Given the description of an element on the screen output the (x, y) to click on. 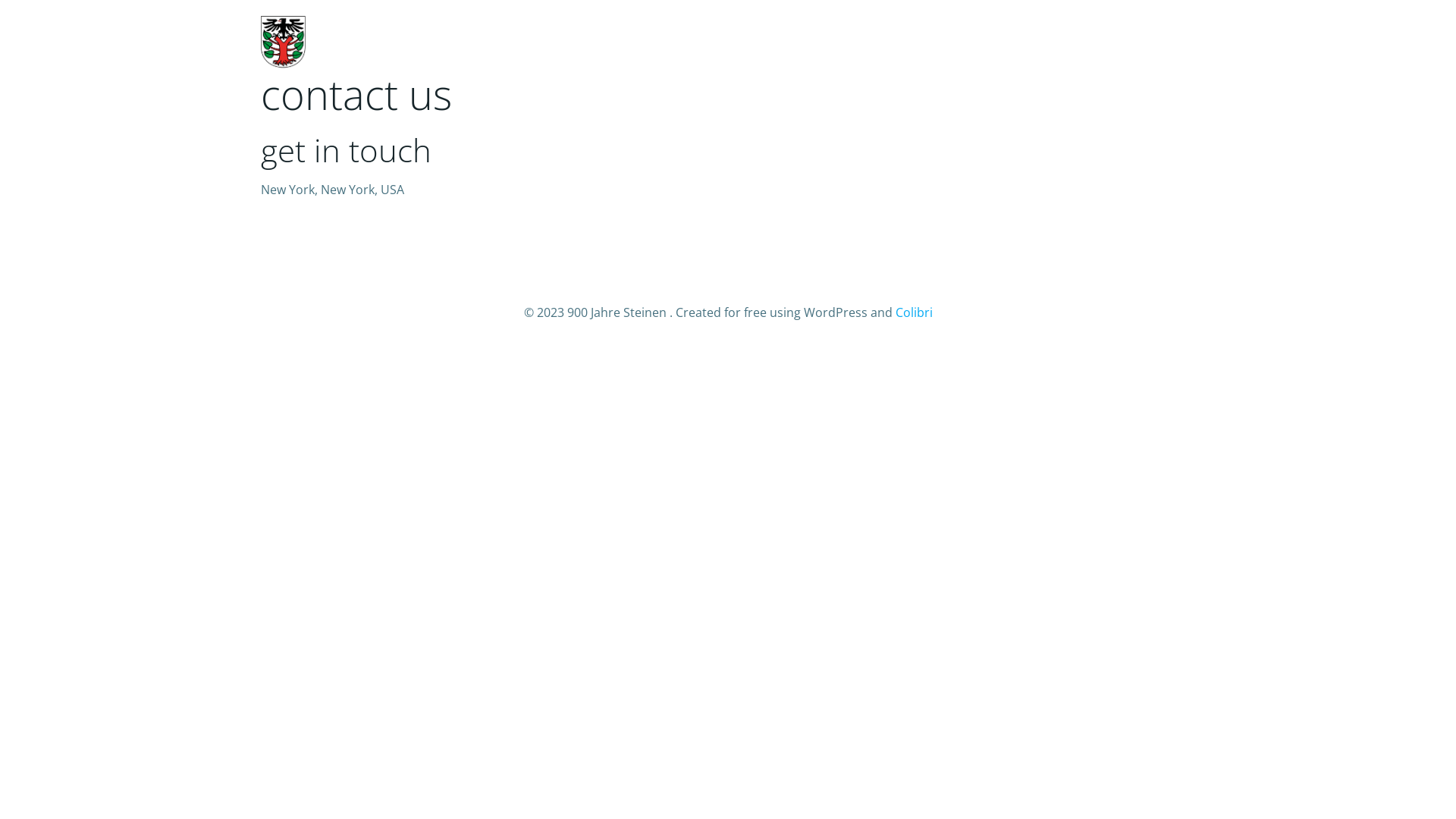
HOME Element type: text (693, 41)
Colibri Element type: text (912, 312)
DAS 900-JAHRE-OK Element type: text (936, 41)
NEWS Element type: text (1178, 41)
STEINER ANSICHTEN Element type: text (1077, 41)
DAS FESTPROGRAMM Element type: text (794, 41)
